Given the description of an element on the screen output the (x, y) to click on. 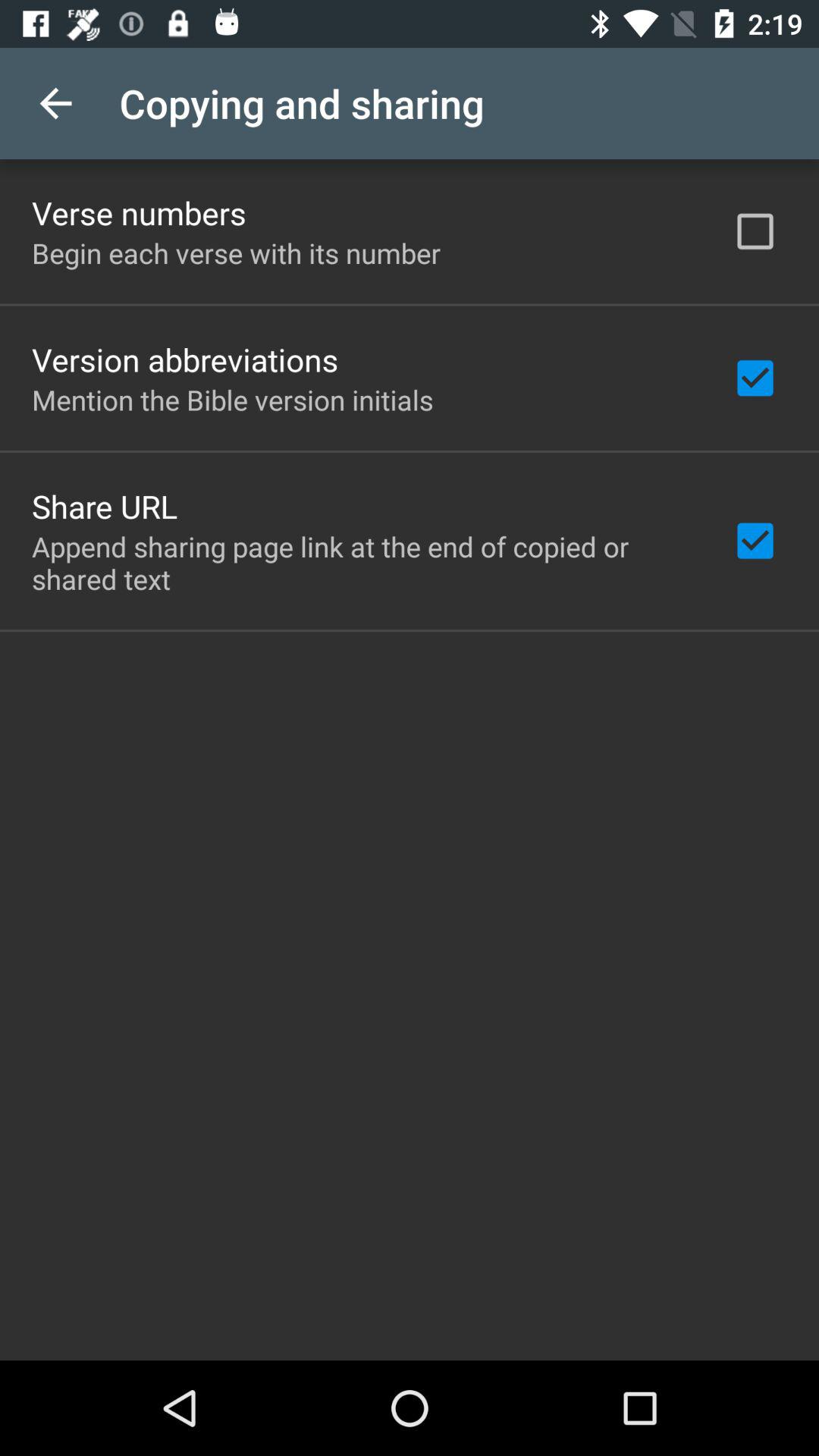
open icon below mention the bible icon (104, 505)
